Given the description of an element on the screen output the (x, y) to click on. 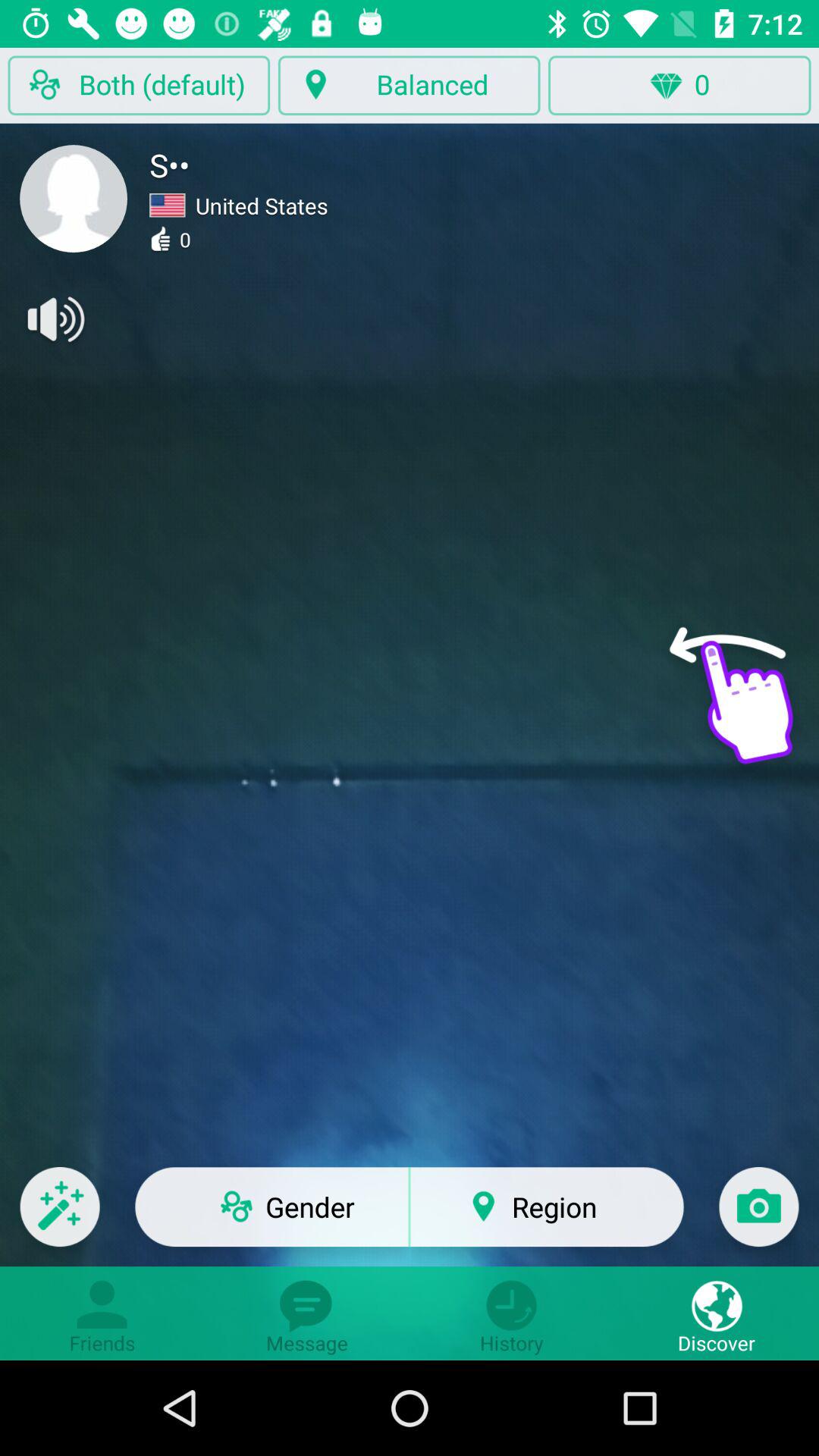
click on balanced (409, 85)
click on hand symbol (731, 703)
go to volume button (54, 319)
click on message icon at bottom (306, 1312)
click on the profile which is in the left top (73, 197)
click on the option which is left side to the gender (59, 1216)
